Given the description of an element on the screen output the (x, y) to click on. 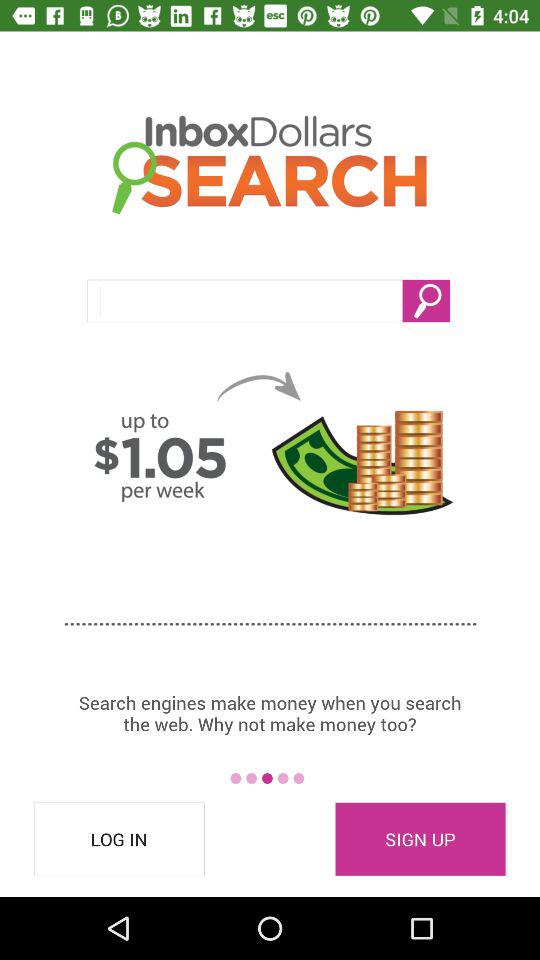
tap sign up item (420, 839)
